Given the description of an element on the screen output the (x, y) to click on. 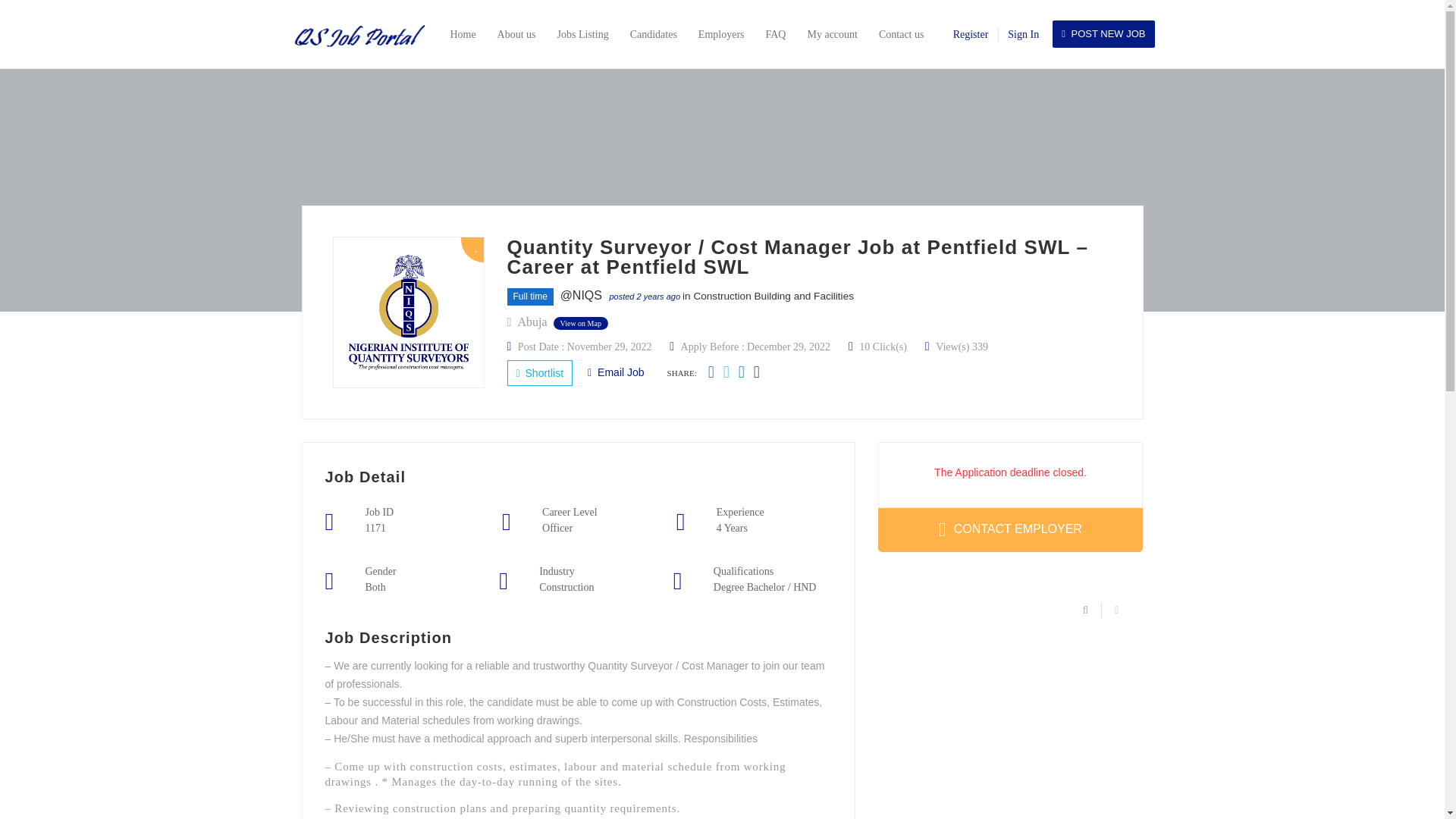
Email Job (615, 372)
Shortlist (539, 372)
Construction Building and Facilities (773, 296)
Sign In (1023, 34)
Register (970, 34)
QS Job Portal (364, 34)
POST NEW JOB (1103, 33)
View on Map (580, 323)
Full time (529, 296)
